Given the description of an element on the screen output the (x, y) to click on. 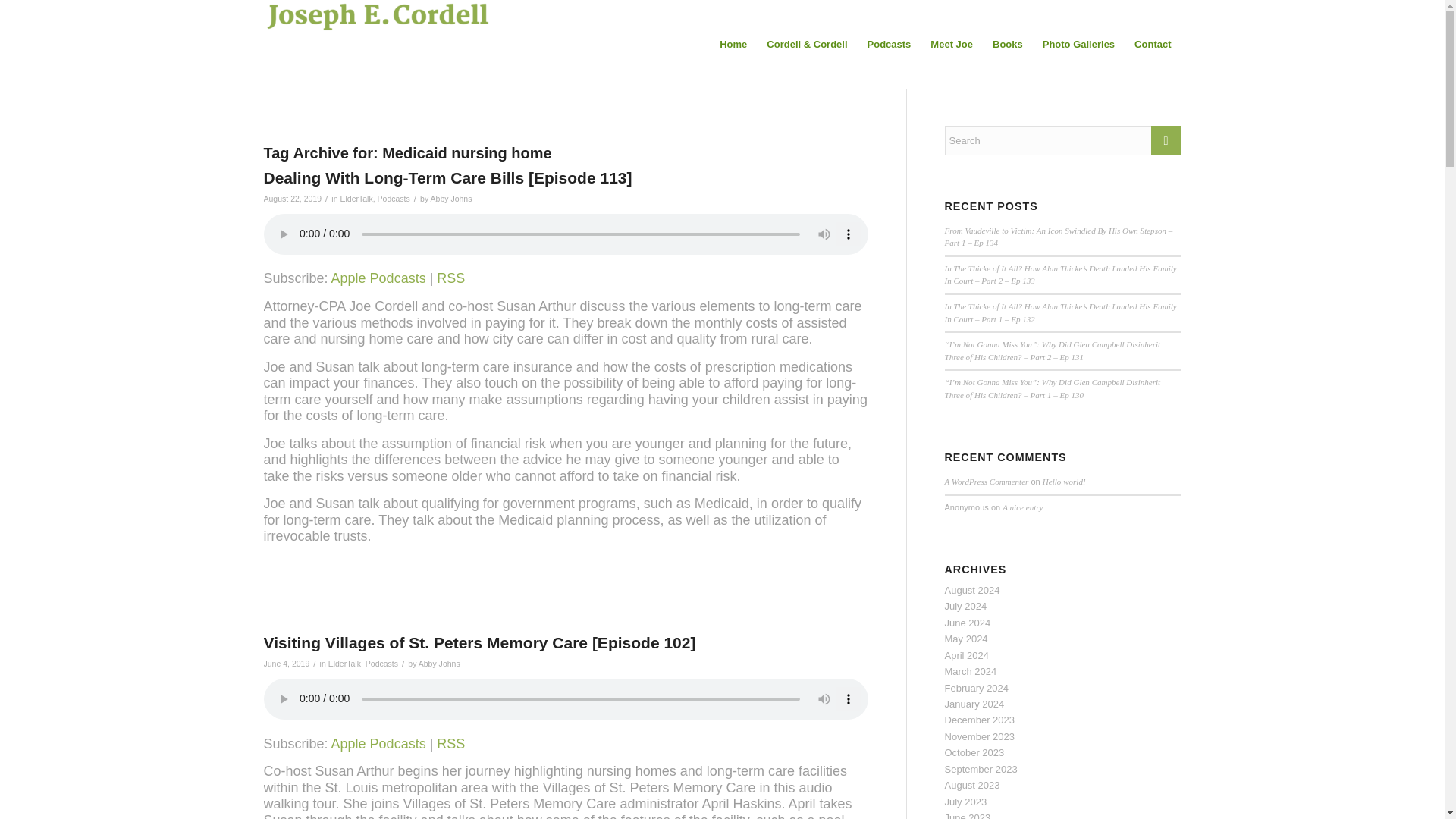
Podcasts (393, 198)
Posts by Abby Johns (450, 198)
Abby Johns (439, 663)
Subscribe via RSS (450, 743)
ElderTalk (345, 663)
Apple Podcasts (378, 743)
ElderTalk (355, 198)
RSS (450, 743)
Posts by Abby Johns (439, 663)
Subscribe on Apple Podcasts (378, 278)
